Given the description of an element on the screen output the (x, y) to click on. 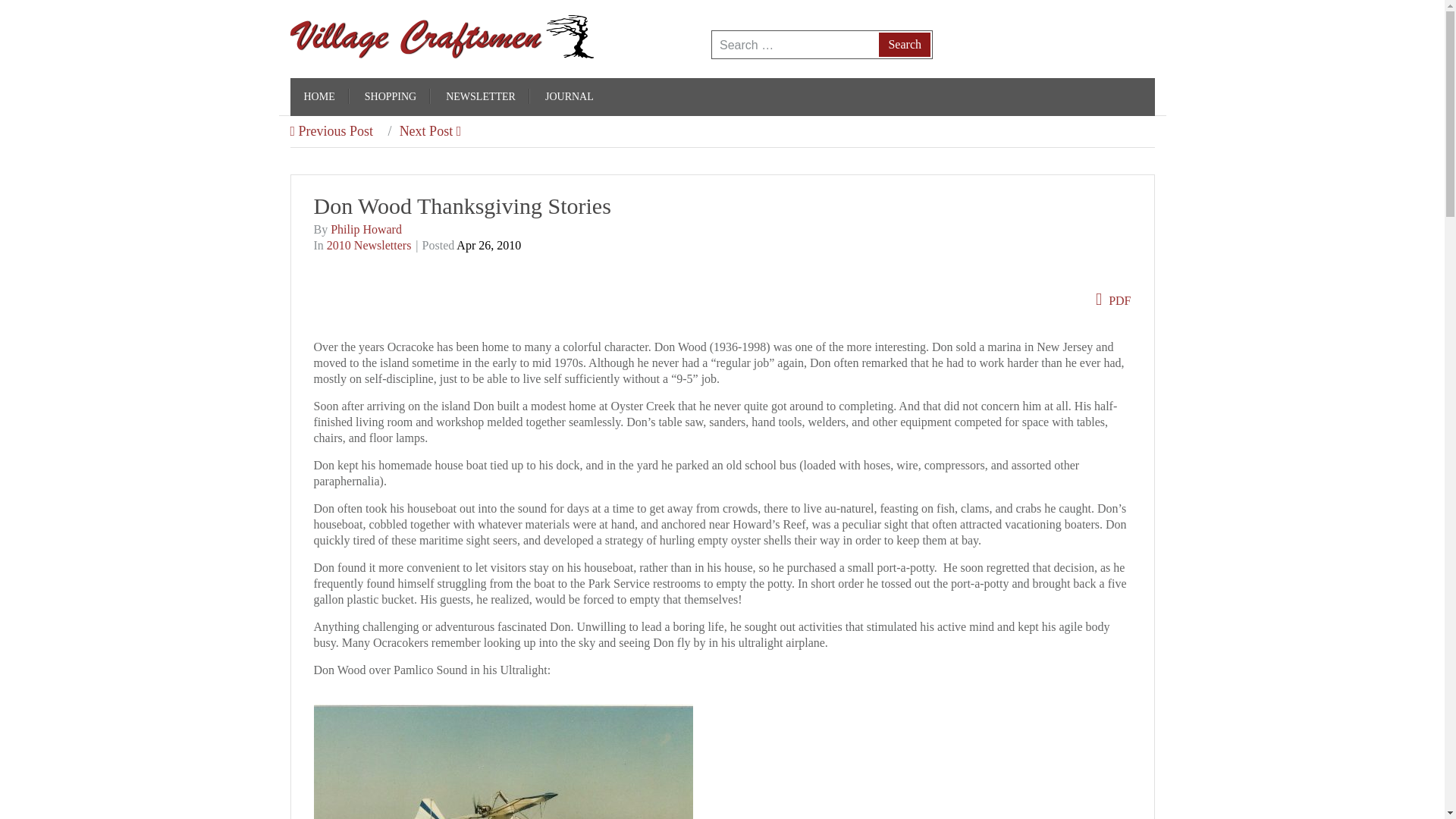
Philip Howard (365, 228)
Next Post (419, 130)
2010 Newsletters (369, 245)
PDF (1113, 299)
JOURNAL (569, 96)
Search (904, 44)
View all posts by Philip Howard (365, 228)
NEWSLETTER (480, 96)
HOME (318, 96)
SHOPPING (389, 96)
Search (904, 44)
Search (904, 44)
Previous Post (330, 130)
